Given the description of an element on the screen output the (x, y) to click on. 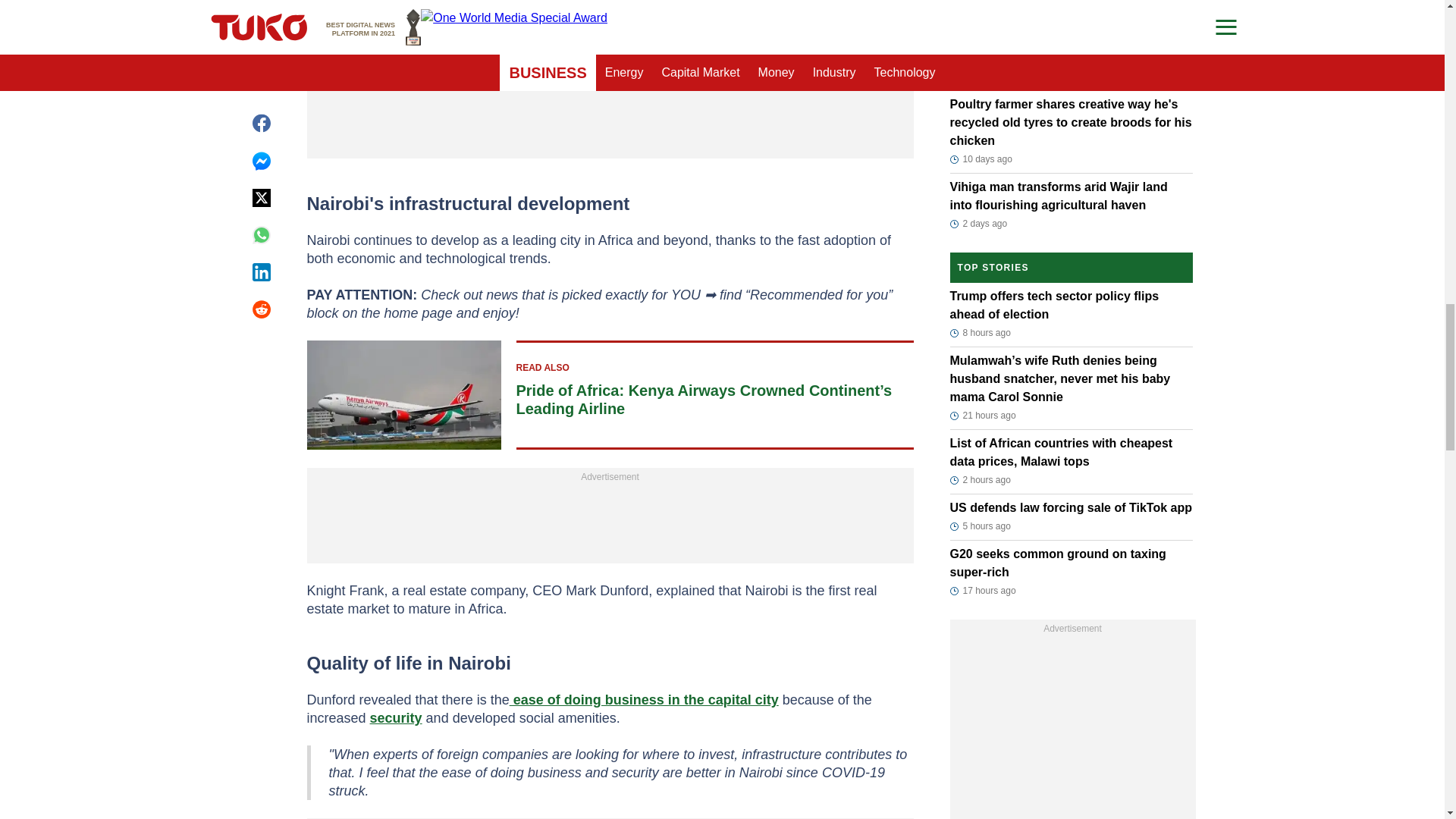
3rd party ad content (609, 74)
